Given the description of an element on the screen output the (x, y) to click on. 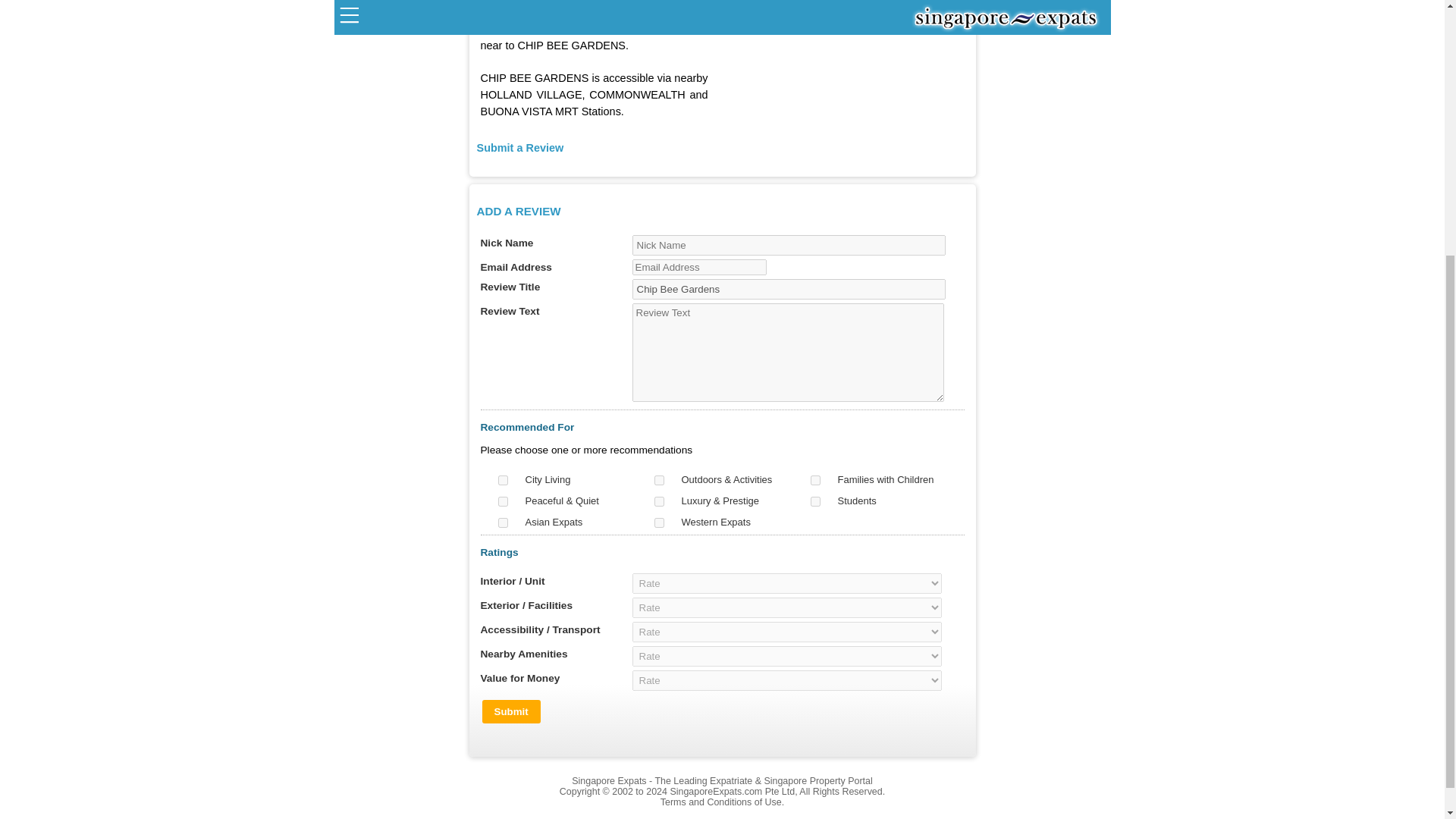
5 (658, 501)
Please enter a Title for this review (788, 289)
3 (814, 480)
Please enter your online Nick Name (788, 245)
1 (501, 480)
Terms and Conditions of Use (721, 801)
Please enter your Review Text (787, 352)
Submit a Review (519, 147)
6 (814, 501)
2 (658, 480)
Submit (510, 711)
Submit (510, 711)
7 (501, 522)
Singapore Expats (609, 780)
Chip Bee Gardens (788, 289)
